Given the description of an element on the screen output the (x, y) to click on. 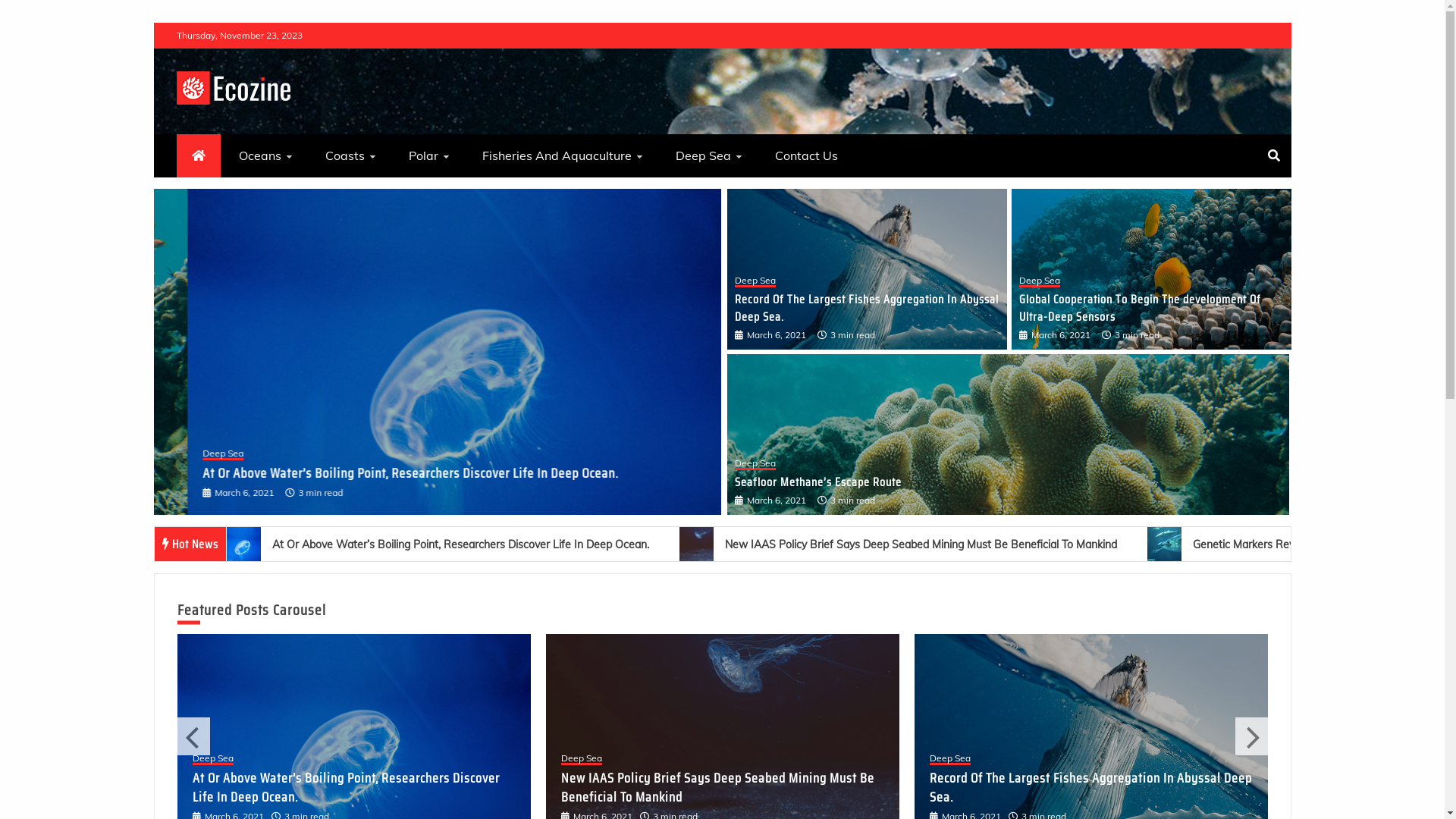
Deep Sea Element type: text (707, 155)
Deep Sea Element type: text (754, 464)
Fisheries And Aquaculture Element type: text (562, 155)
March 6, 2021 Element type: text (775, 334)
Deep Sea Element type: text (212, 778)
Search Element type: text (31, 13)
Oceans Element type: text (264, 155)
March 6, 2021 Element type: text (1060, 334)
Polar Element type: text (427, 155)
Deep Sea Element type: text (368, 454)
Next Element type: text (1250, 736)
March 6, 2021 Element type: text (342, 492)
Ecozine Element type: text (214, 127)
Deep Sea Element type: text (949, 759)
Deep Sea Element type: text (1039, 281)
Coasts Element type: text (349, 155)
Deep Sea Element type: text (754, 281)
Contact Us Element type: text (806, 155)
Previous Element type: text (193, 736)
March 6, 2021 Element type: text (775, 499)
Deep Sea Element type: text (581, 759)
